Given the description of an element on the screen output the (x, y) to click on. 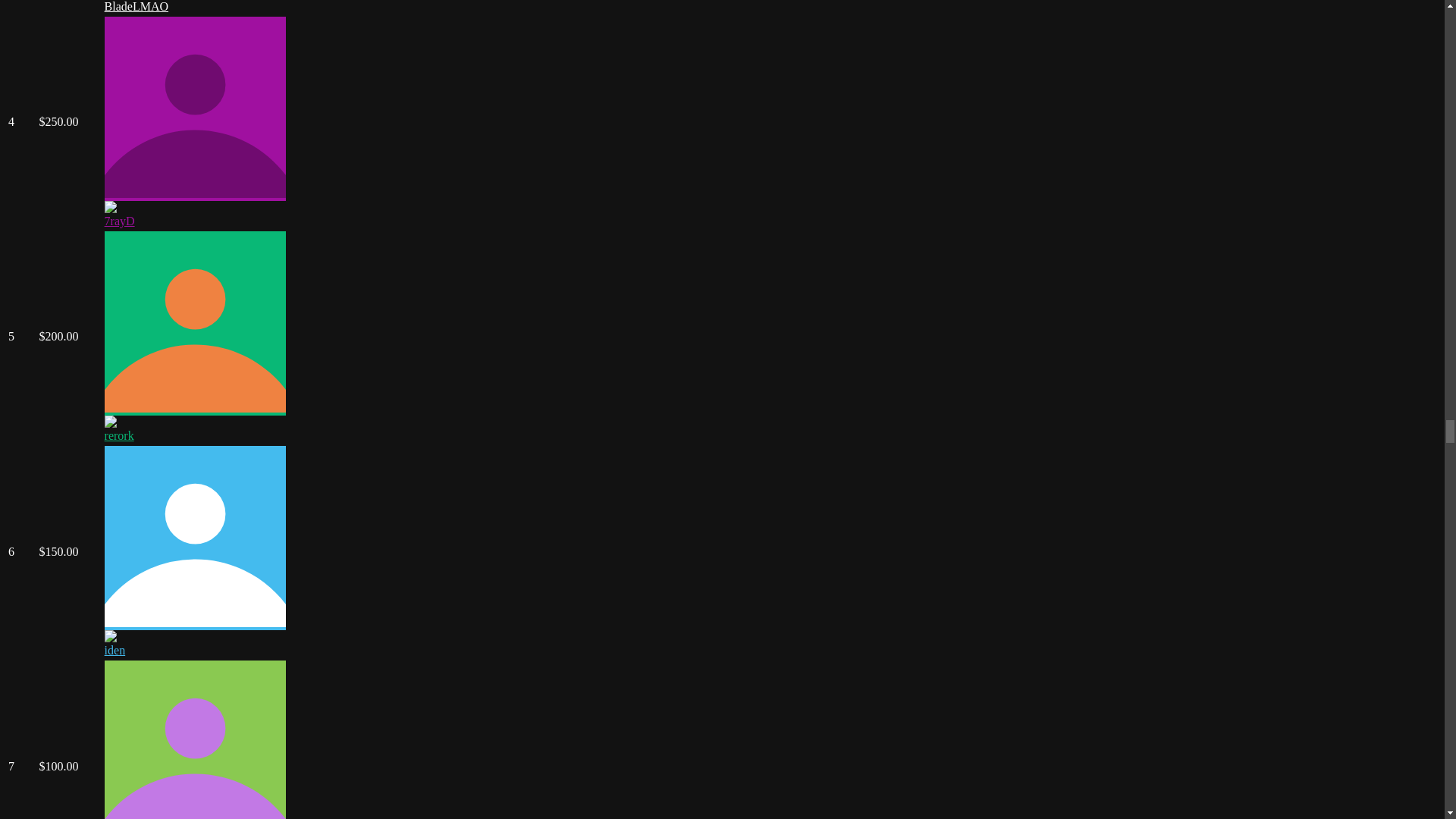
7rayD (119, 220)
BladeLMAO (136, 6)
iden (114, 649)
rerork (118, 435)
